Given the description of an element on the screen output the (x, y) to click on. 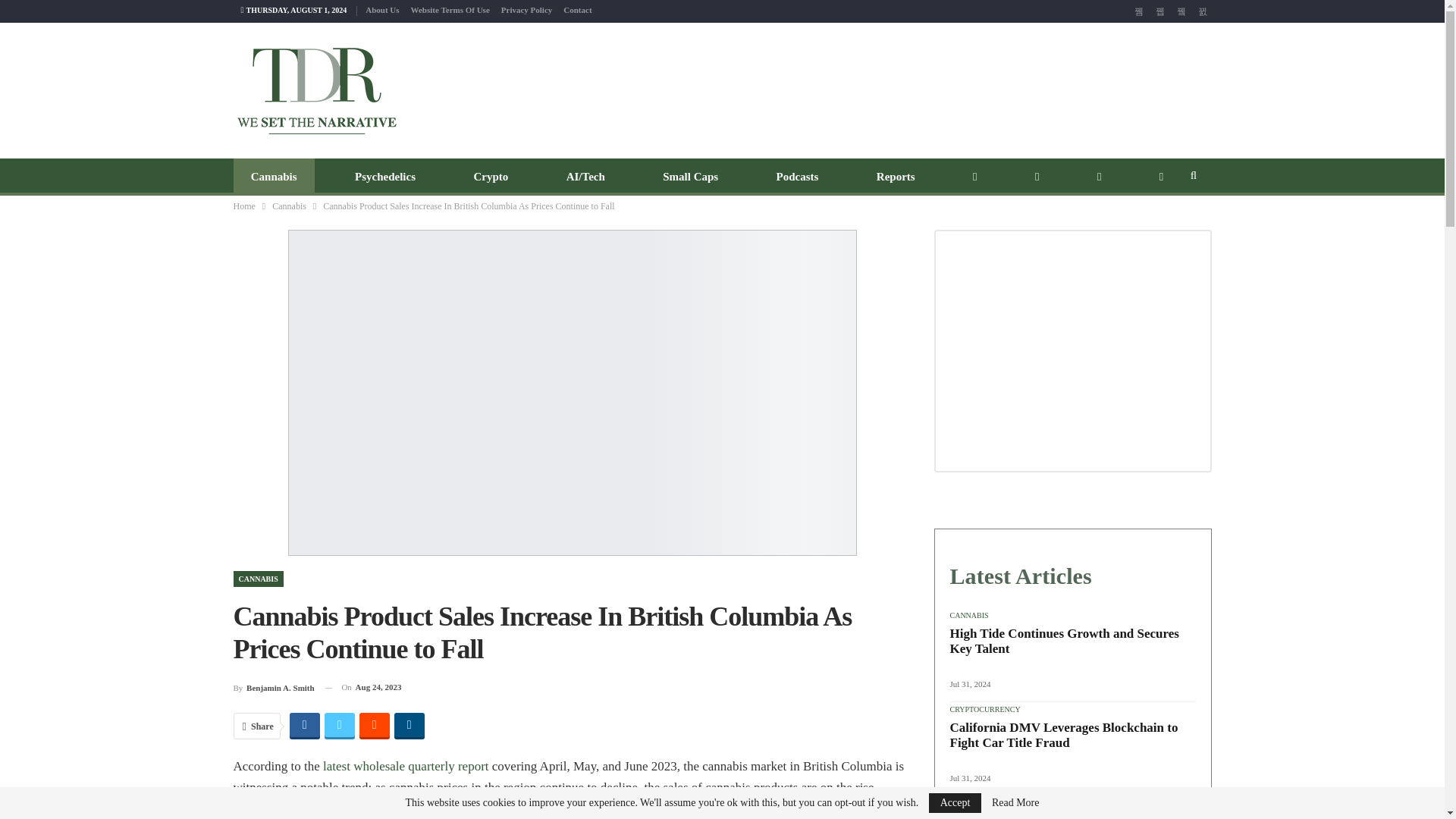
Cannabis (288, 206)
Browse Author Articles (273, 687)
Contact (577, 9)
Cannabis (273, 176)
Podcasts (796, 176)
latest wholesale quarterly report (406, 766)
By Benjamin A. Smith (273, 687)
Reports (896, 176)
Small Caps (690, 176)
Advertisement (888, 88)
